Given the description of an element on the screen output the (x, y) to click on. 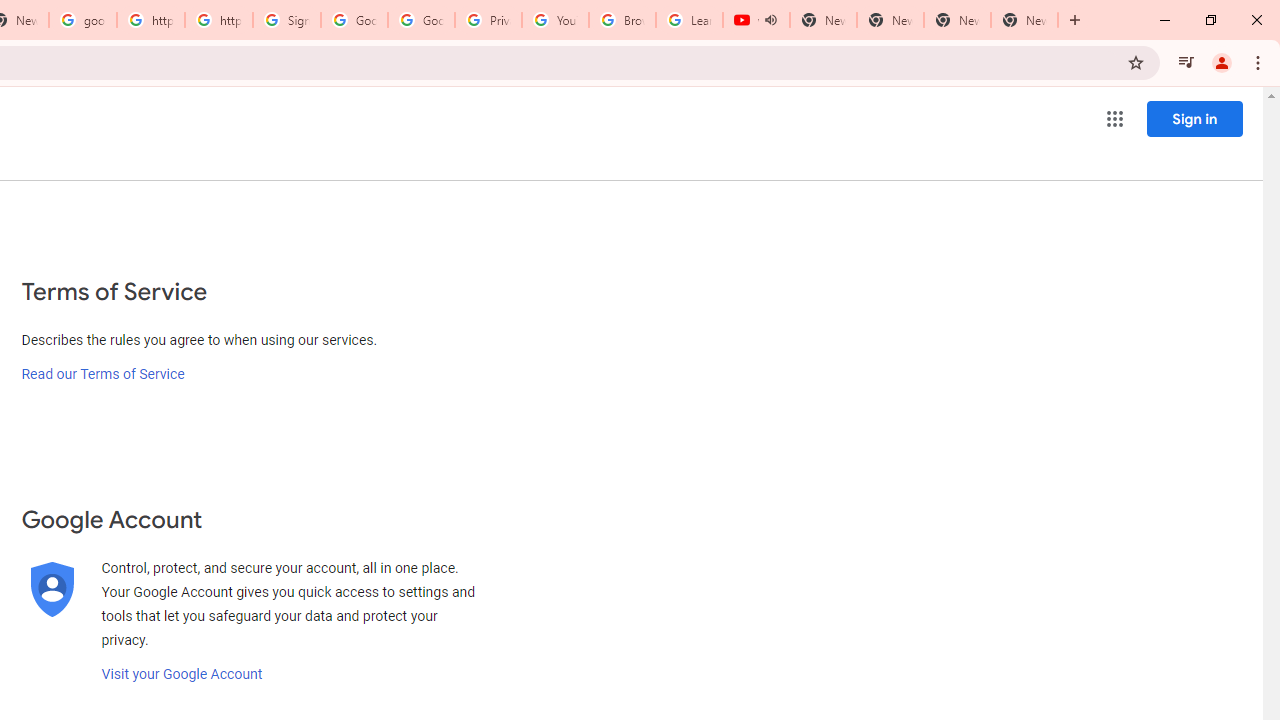
https://scholar.google.com/ (150, 20)
Visit your Google Account (181, 674)
Mute tab (770, 20)
